Given the description of an element on the screen output the (x, y) to click on. 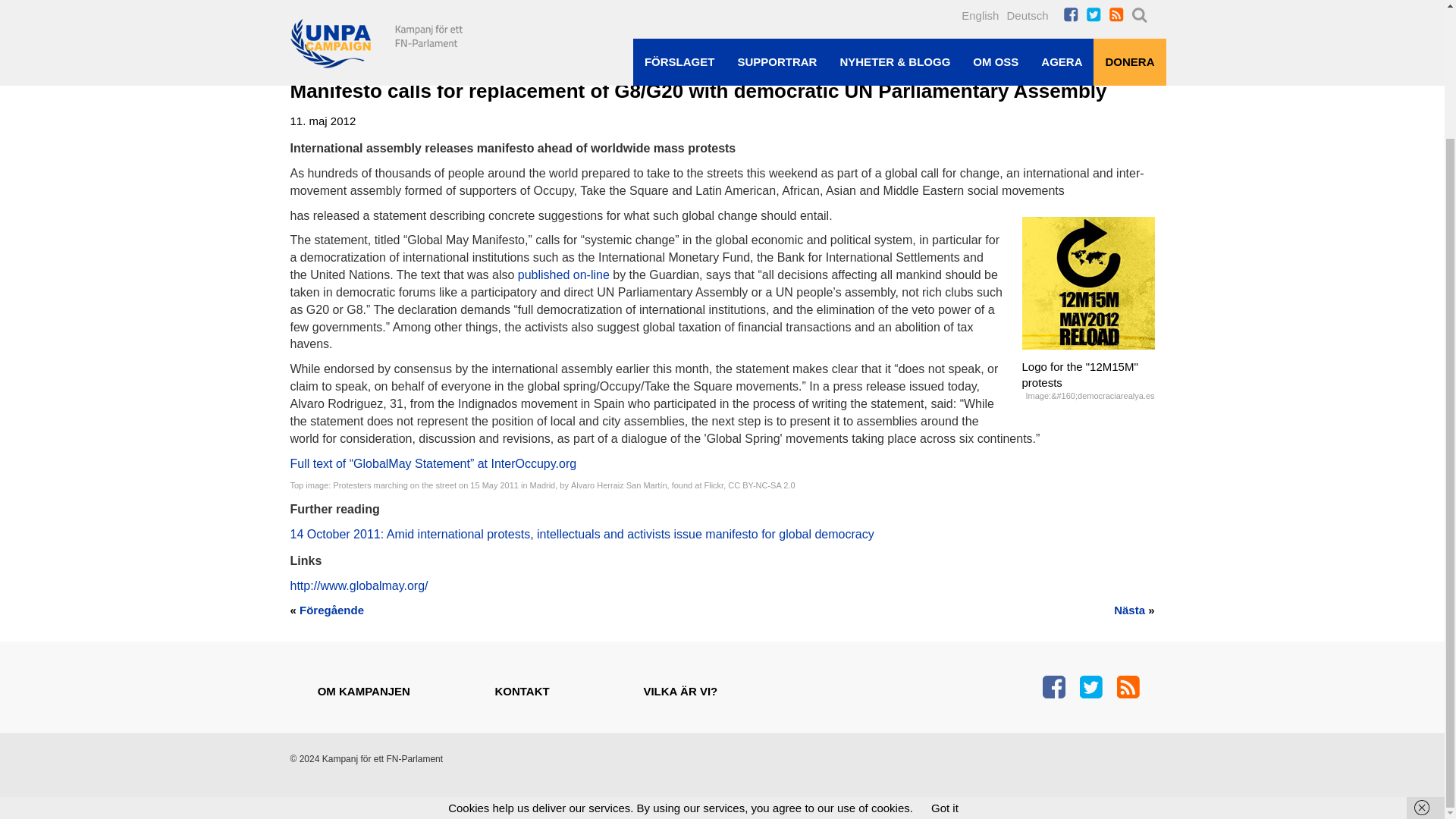
KONTAKT (521, 691)
TW (1091, 686)
RSS (1127, 686)
published on-line (564, 274)
OM KAMPANJEN (363, 691)
FB (1053, 686)
